Given the description of an element on the screen output the (x, y) to click on. 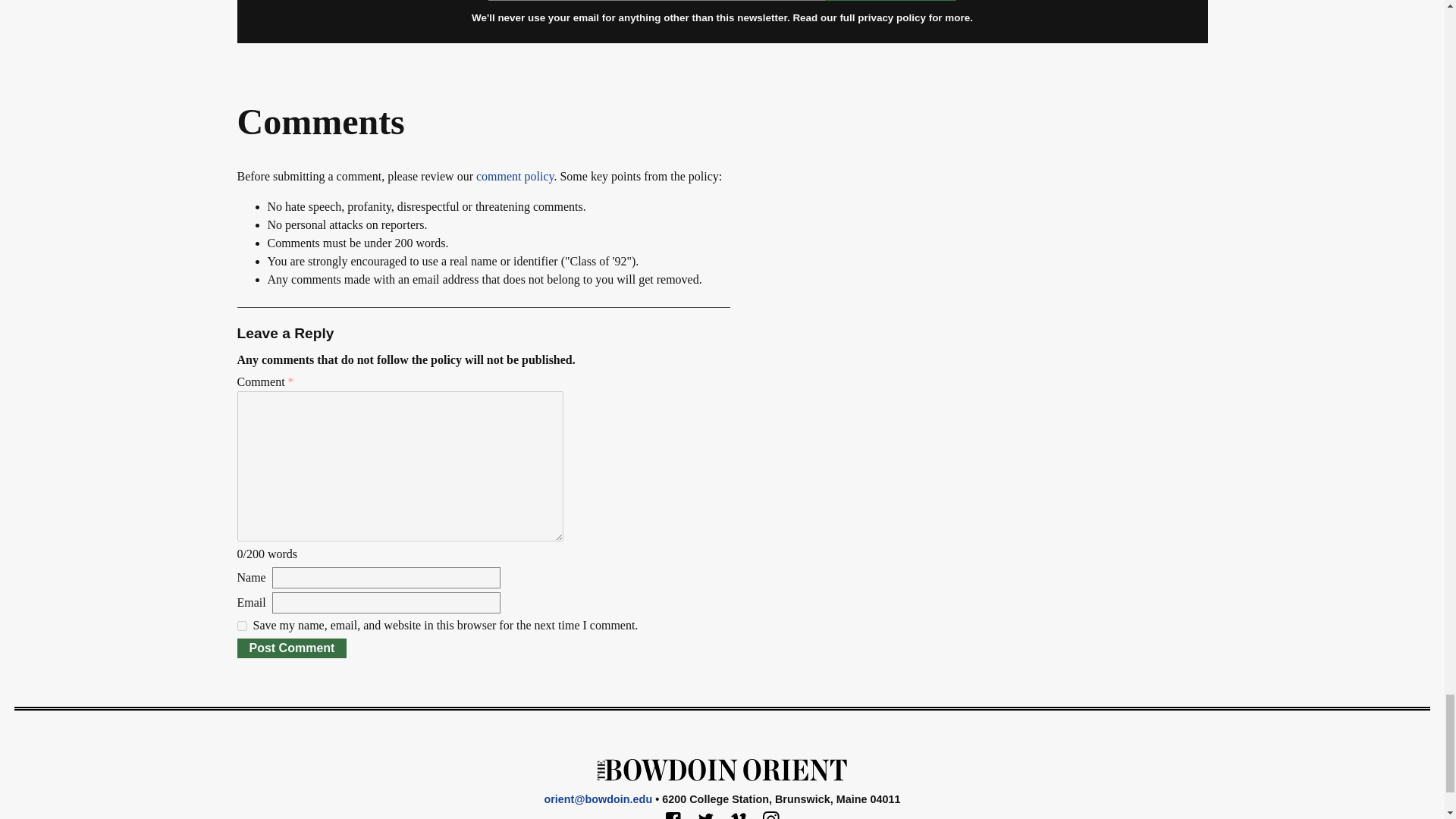
Post Comment (290, 648)
yes (240, 625)
